Given the description of an element on the screen output the (x, y) to click on. 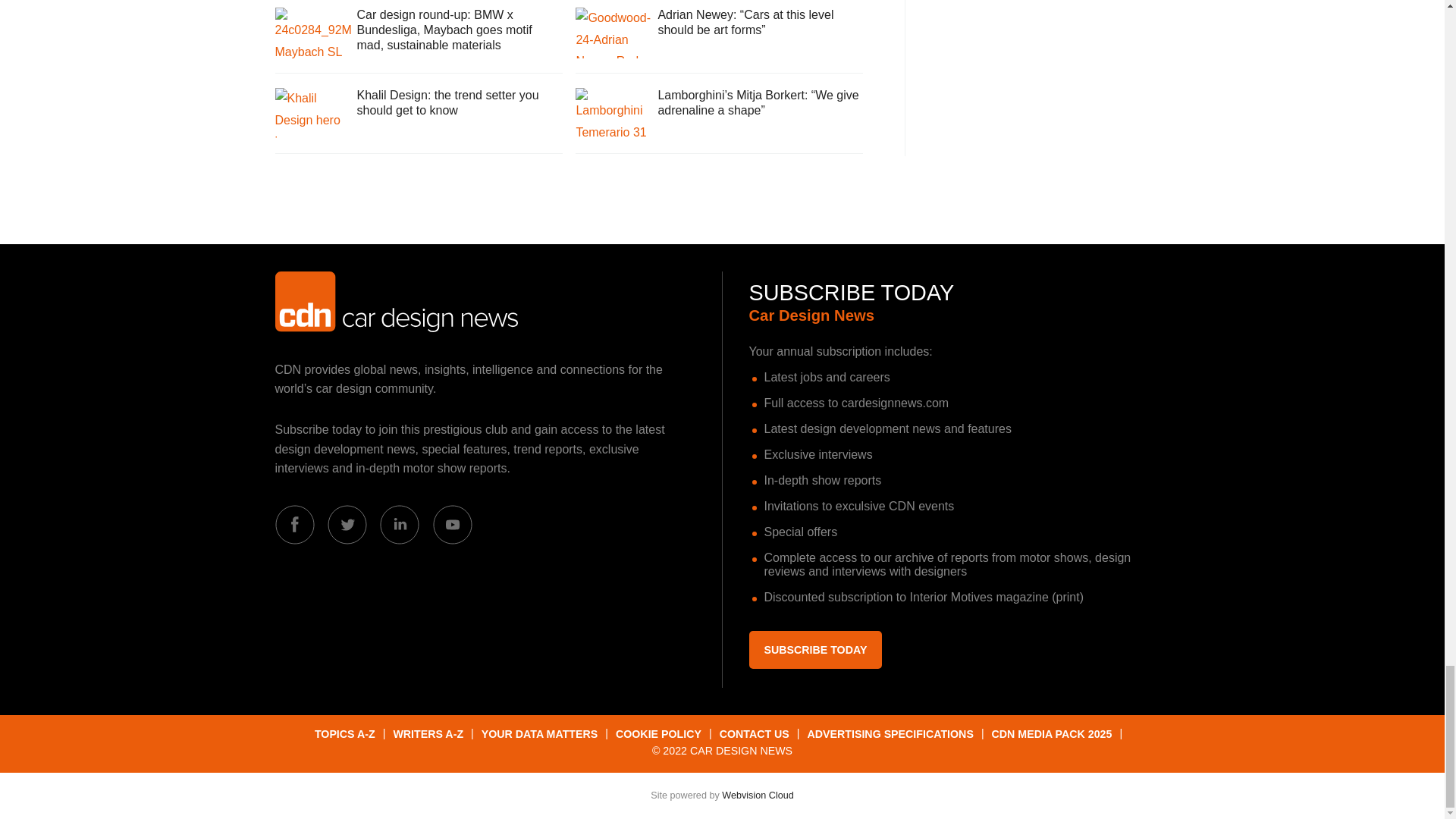
Connect with us on Twitter (346, 524)
footer-logo (395, 301)
Connect with us on Linked In (399, 524)
Connect with us on Facebook (294, 524)
Connect with us on Youtube (451, 524)
